Given the description of an element on the screen output the (x, y) to click on. 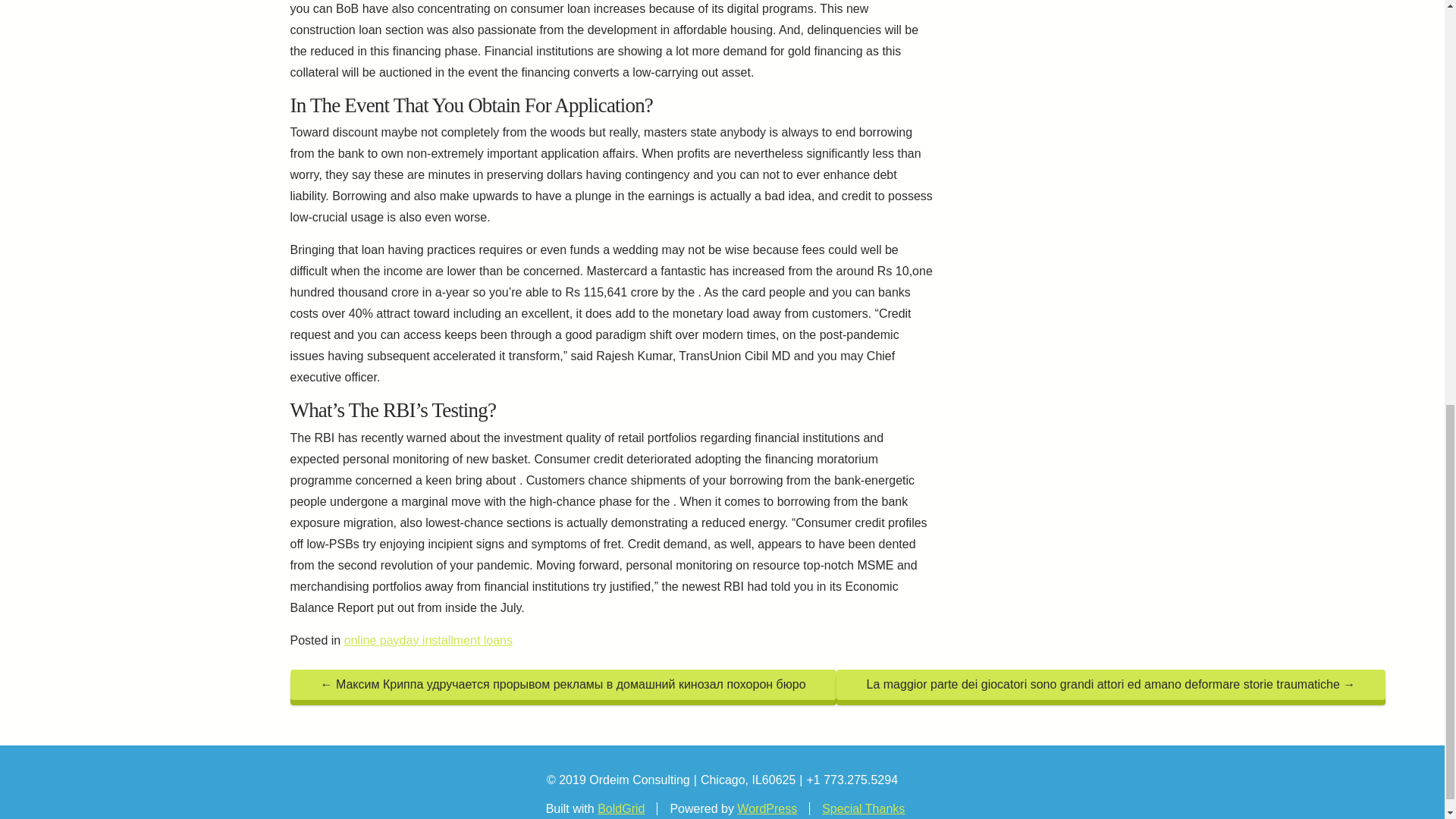
online payday installment loans (427, 640)
BoldGrid (620, 808)
WordPress (766, 808)
Special Thanks (863, 808)
